Given the description of an element on the screen output the (x, y) to click on. 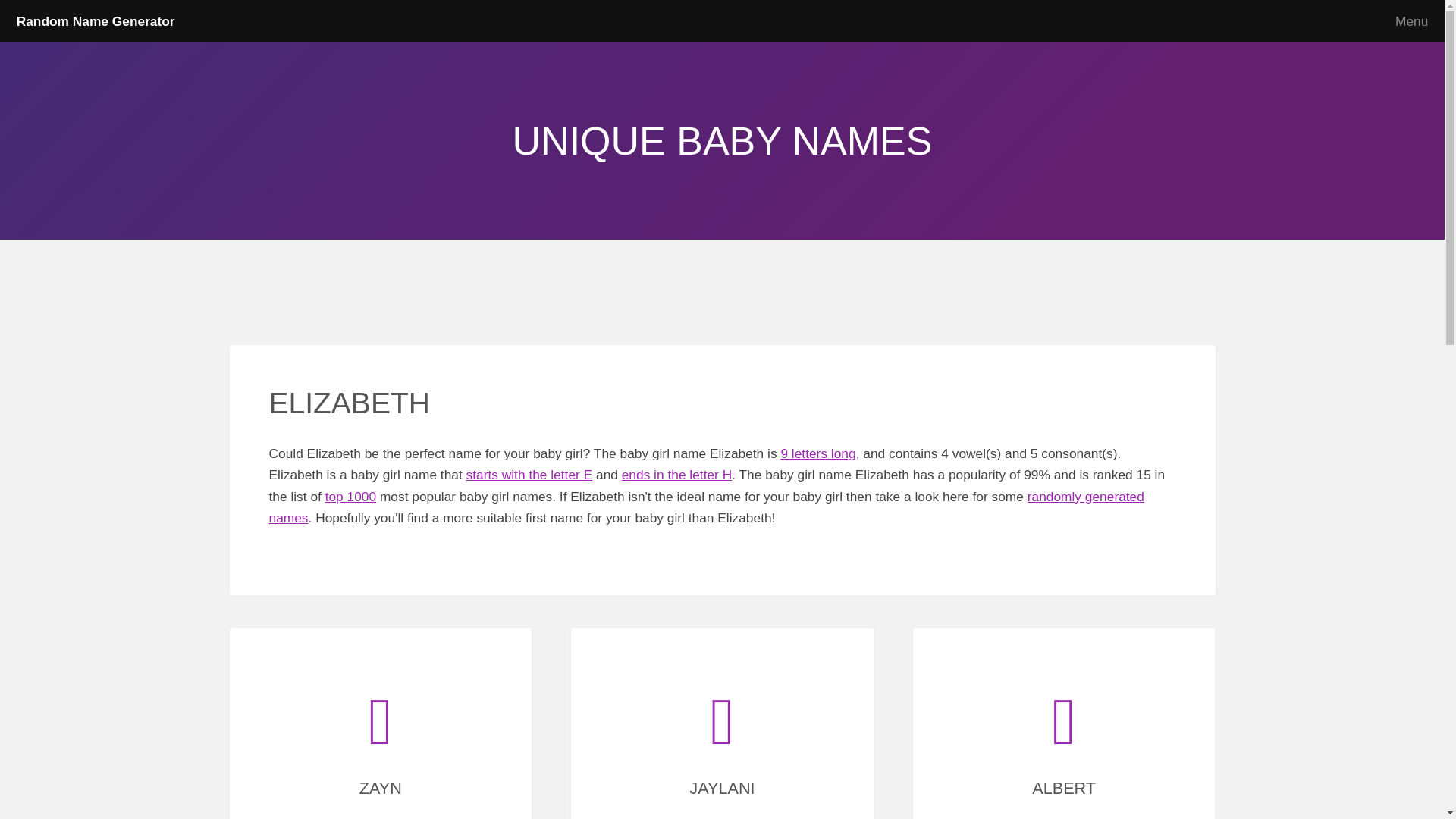
ends in the letter H (676, 474)
Random Name Generator (95, 21)
randomly generated names (704, 507)
starts with the letter E (528, 474)
9 letters long (818, 453)
top 1000 (349, 496)
